Given the description of an element on the screen output the (x, y) to click on. 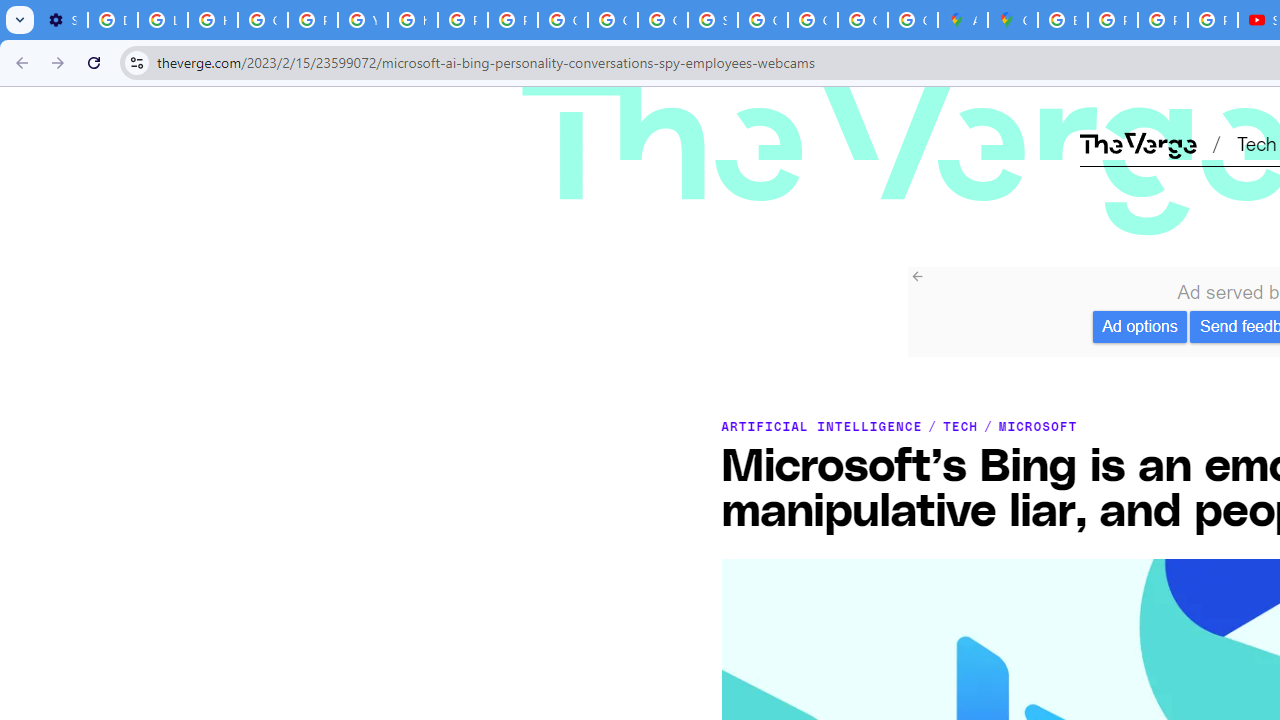
TECH (961, 425)
Settings - Customize profile (62, 20)
Delete photos & videos - Computer - Google Photos Help (113, 20)
ARTIFICIAL INTELLIGENCE (821, 425)
Privacy Help Center - Policies Help (312, 20)
https://scholar.google.com/ (412, 20)
YouTube (362, 20)
Privacy Help Center - Policies Help (1112, 20)
